Given the description of an element on the screen output the (x, y) to click on. 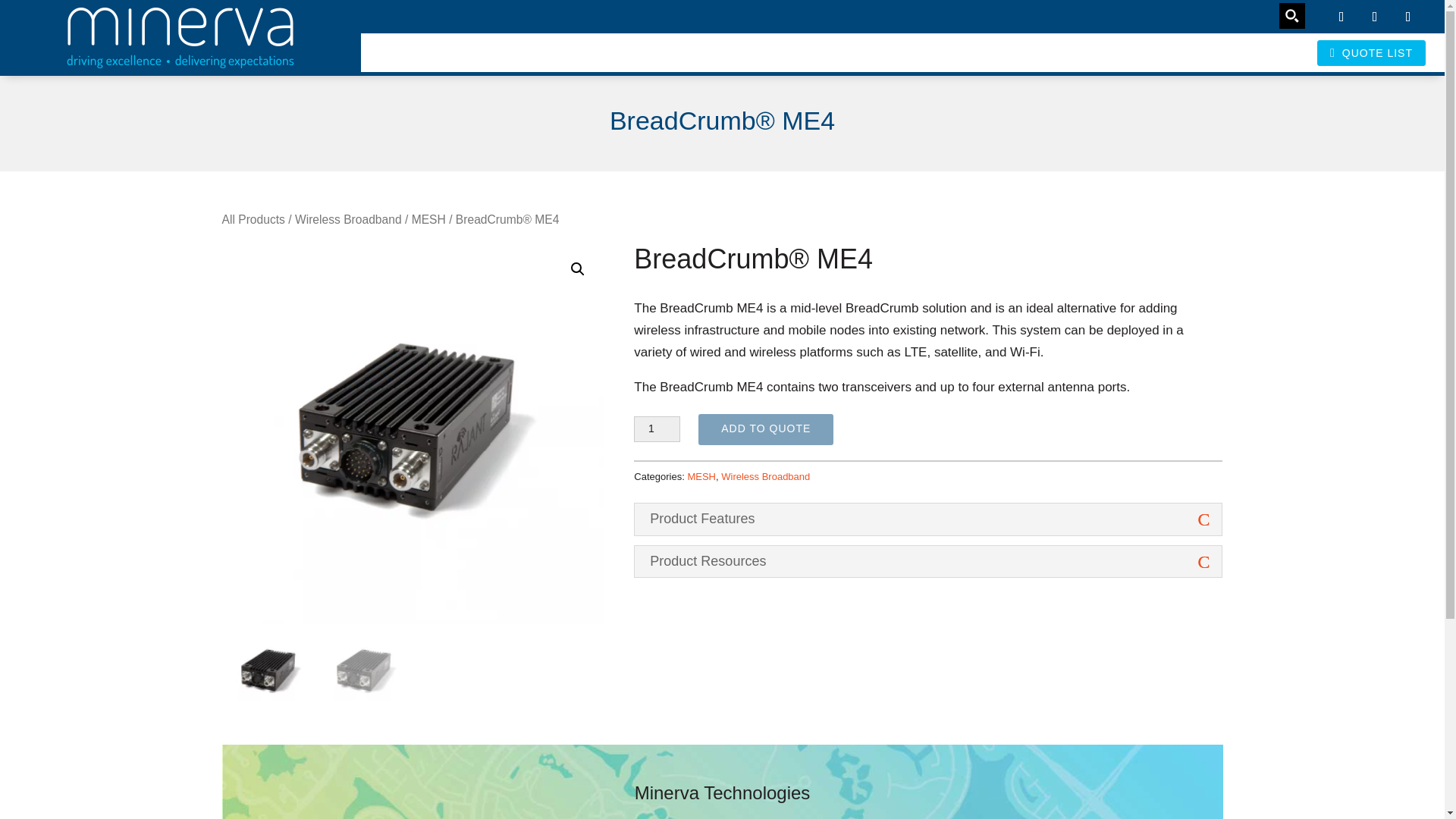
1 (656, 429)
Follow on LinkedIn (1408, 16)
Follow on Youtube (1341, 16)
VENDORS (969, 52)
Minerva-logo-80 (180, 37)
Follow on X (1375, 16)
HOME (786, 52)
PRODUCTS (868, 52)
